Given the description of an element on the screen output the (x, y) to click on. 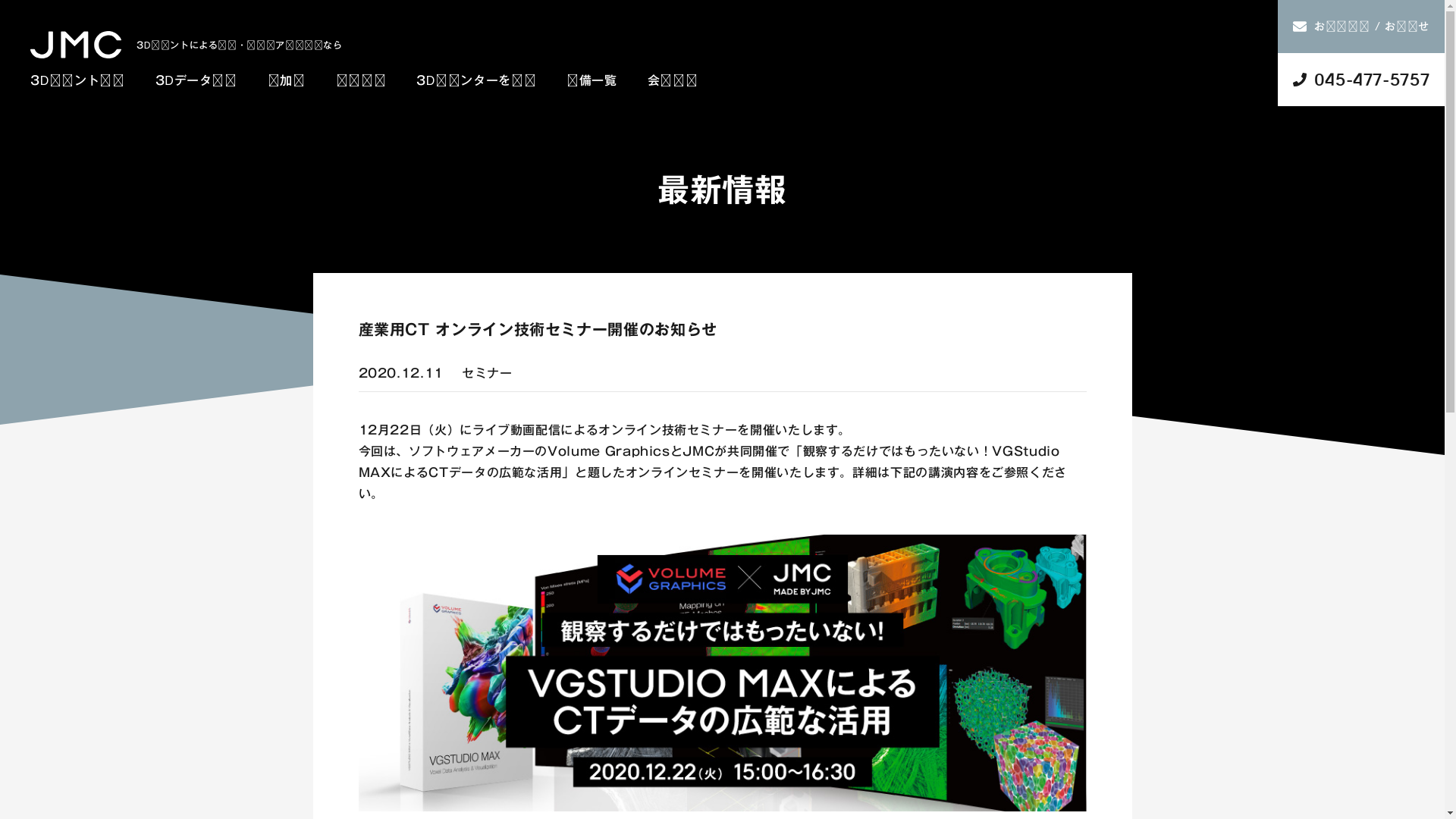
045-477-5757 Element type: text (1360, 79)
